Given the description of an element on the screen output the (x, y) to click on. 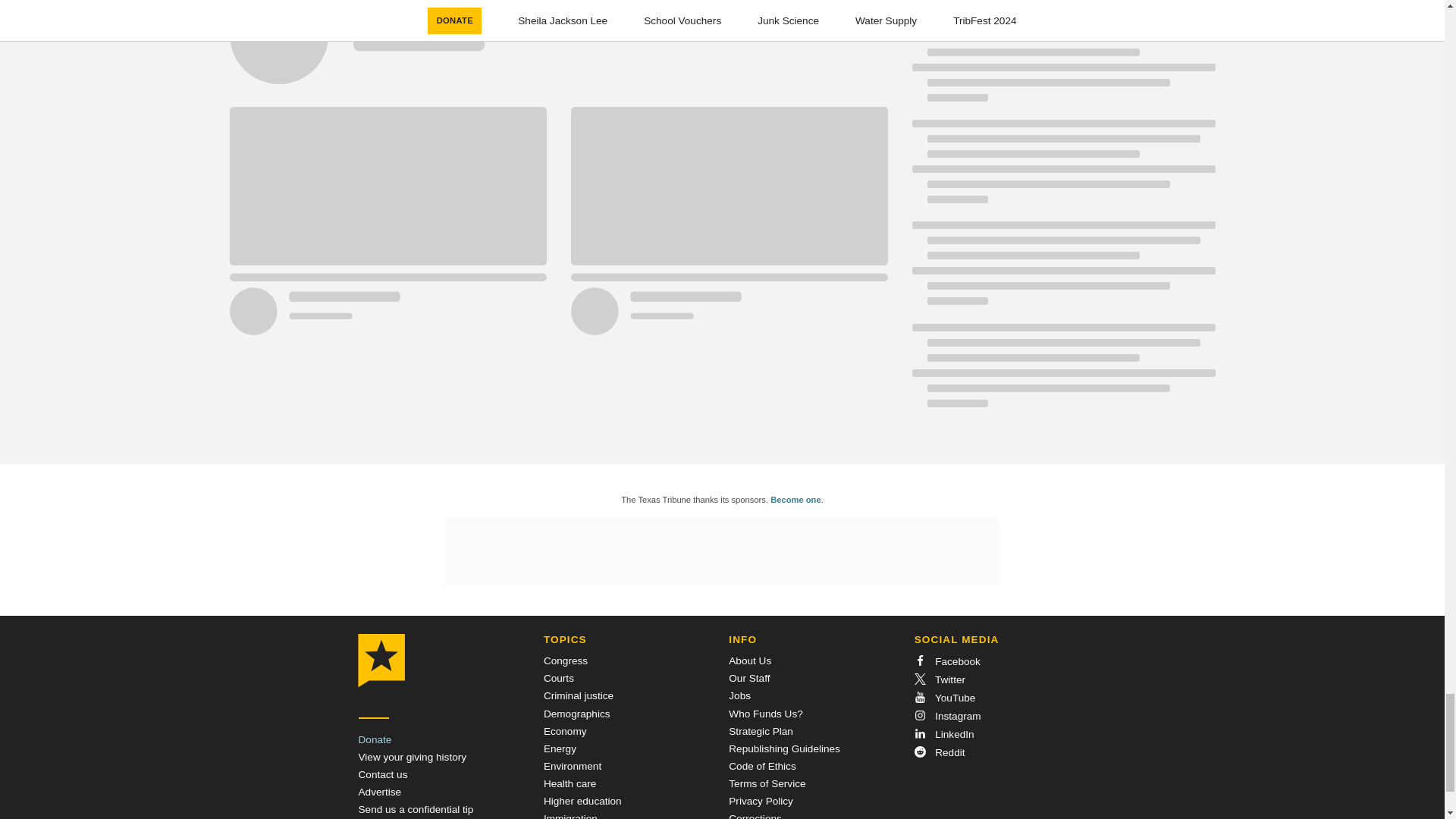
Who Funds Us? (765, 713)
Contact us (382, 774)
Code of Ethics (761, 766)
Privacy Policy (761, 800)
Strategic Plan (761, 731)
Donate (374, 739)
View your giving history (411, 756)
Corrections (755, 816)
Loading indicator (557, 52)
Advertise (379, 791)
Facebook (946, 661)
Send a Tip (415, 808)
Terms of Service (767, 783)
About Us (750, 660)
Republishing Guidelines (784, 748)
